Given the description of an element on the screen output the (x, y) to click on. 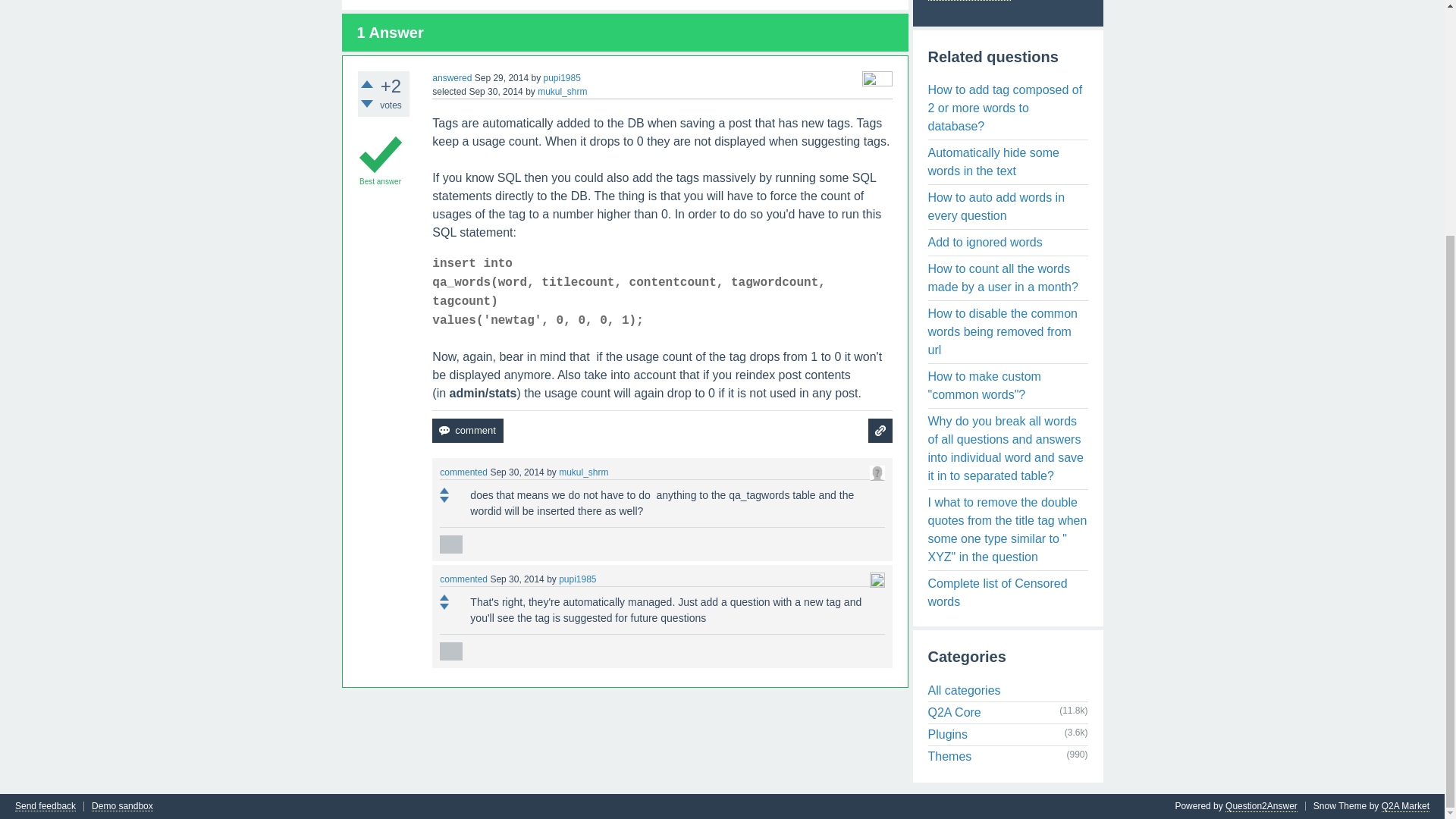
Add a comment on this answer (467, 430)
Click to vote up (443, 490)
Click to vote up (443, 597)
answered (451, 77)
Click to vote up (366, 83)
Click to vote down (443, 499)
pupi1985 (561, 77)
ask related question (879, 430)
Reply to this comment (451, 544)
reply (451, 544)
Click to vote down (443, 606)
ask related question (879, 430)
comment (467, 430)
reply (451, 651)
Ask a new question relating to this answer (879, 430)
